Given the description of an element on the screen output the (x, y) to click on. 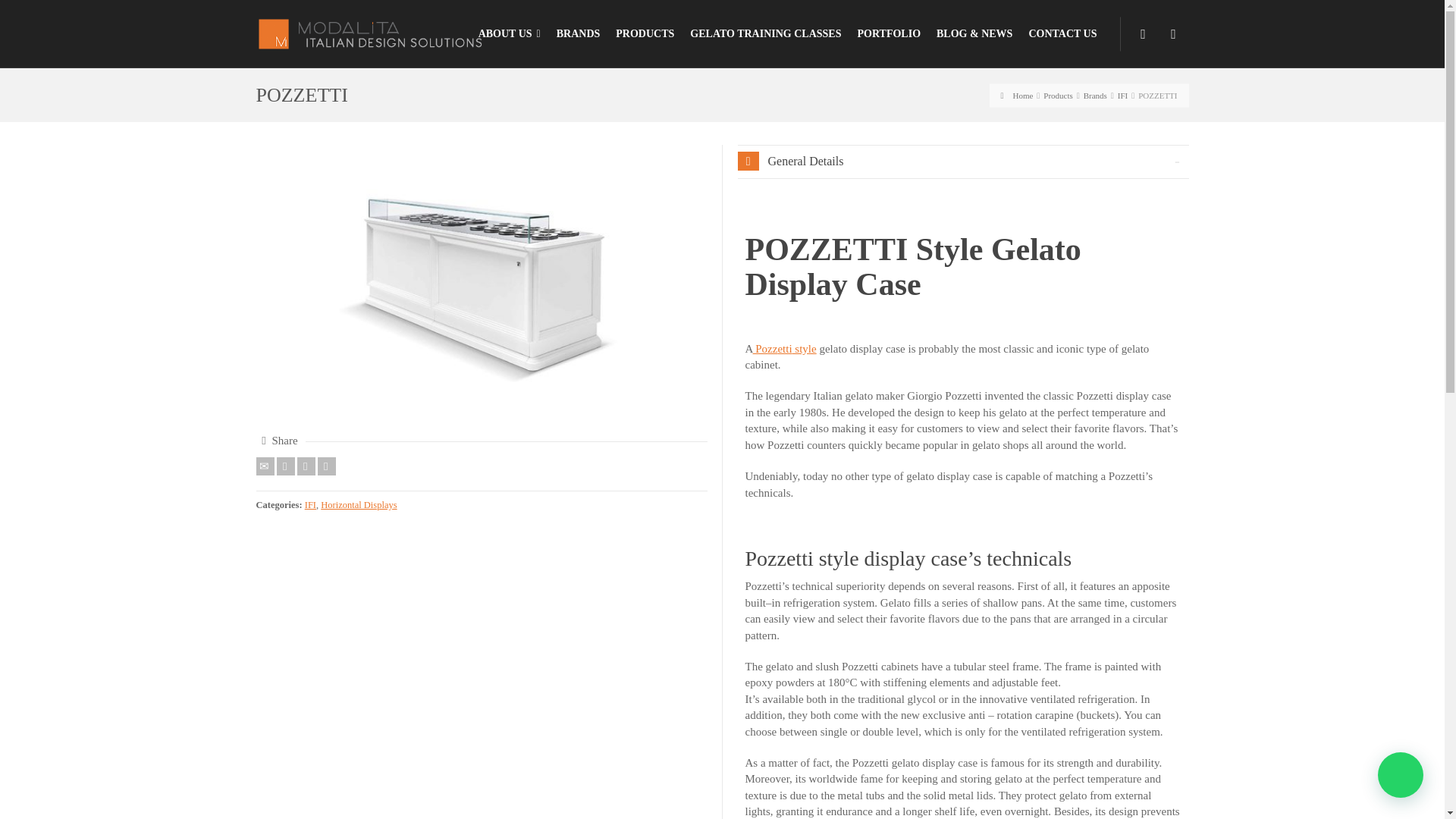
GELATO TRAINING CLASSES (765, 33)
Facebook (306, 466)
Email (265, 466)
MODALITA (369, 32)
PORTFOLIO (888, 33)
Twitter (285, 466)
Brands (1094, 94)
Products (1058, 94)
Enlarge Image (481, 282)
PRODUCTS (645, 33)
CONTACT US (1062, 33)
Linkedin (325, 466)
Home (1017, 94)
ABOUT US (509, 33)
IFI (1122, 94)
